Given the description of an element on the screen output the (x, y) to click on. 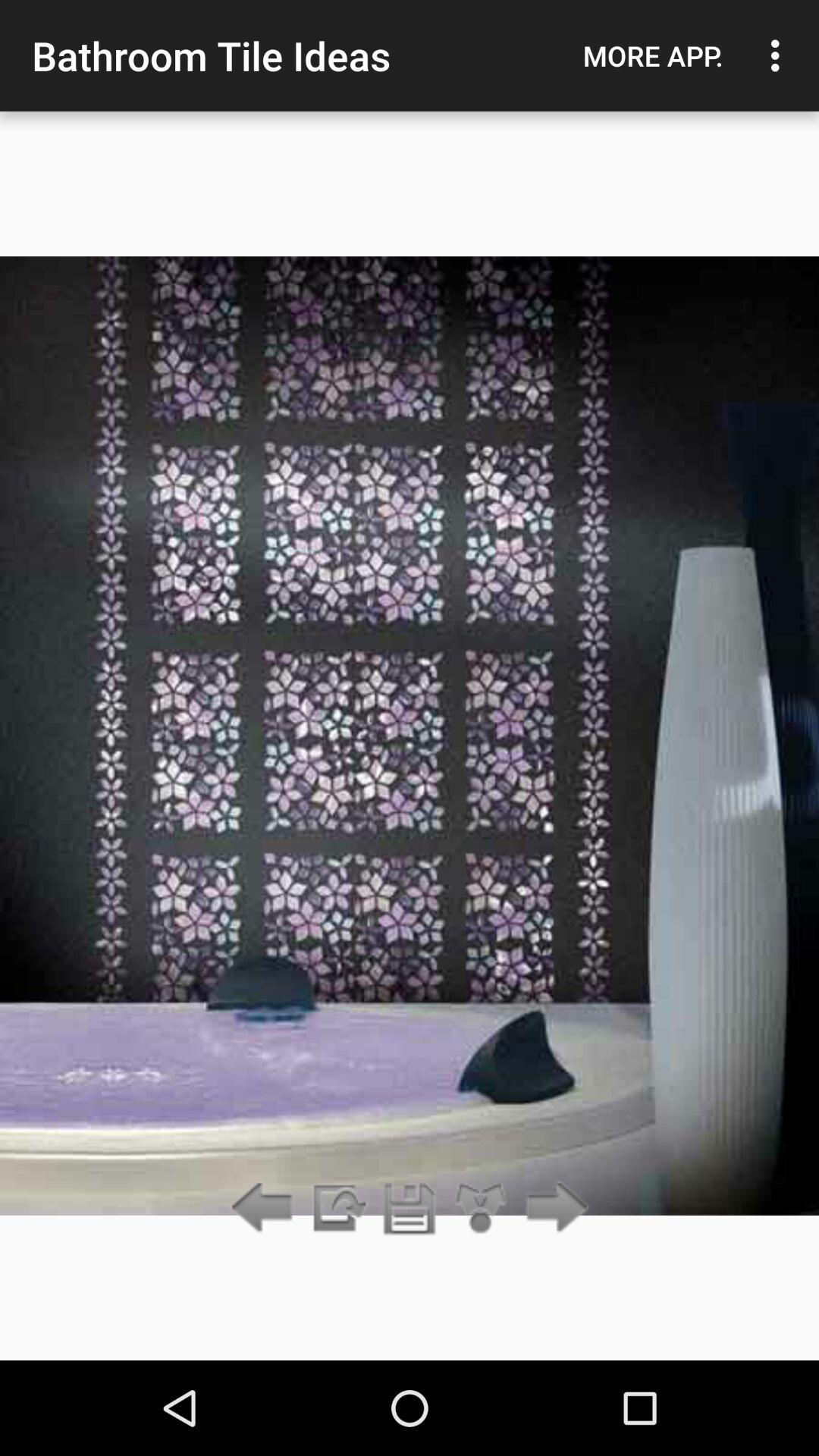
tap the app to the right of the bathroom tile ideas (653, 55)
